Given the description of an element on the screen output the (x, y) to click on. 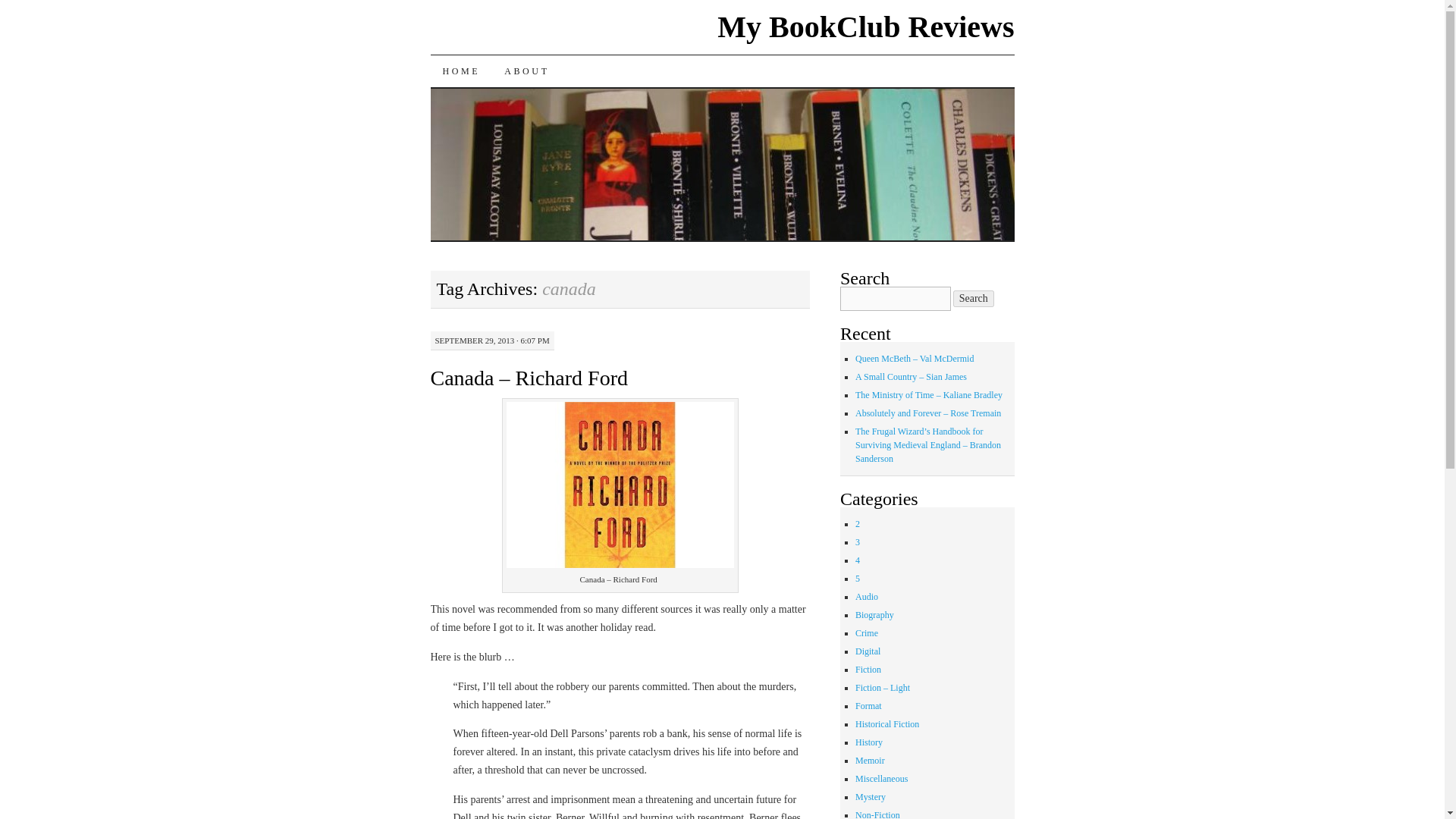
Miscellaneous (881, 778)
ABOUT (526, 70)
Digital (868, 651)
5 (858, 578)
Non-Fiction (877, 814)
3 (858, 542)
Skip to content (440, 101)
History (869, 742)
Mystery (870, 796)
Crime (866, 633)
Historical Fiction (887, 724)
2 (858, 523)
HOME (461, 70)
Format (869, 706)
4 (858, 560)
